Given the description of an element on the screen output the (x, y) to click on. 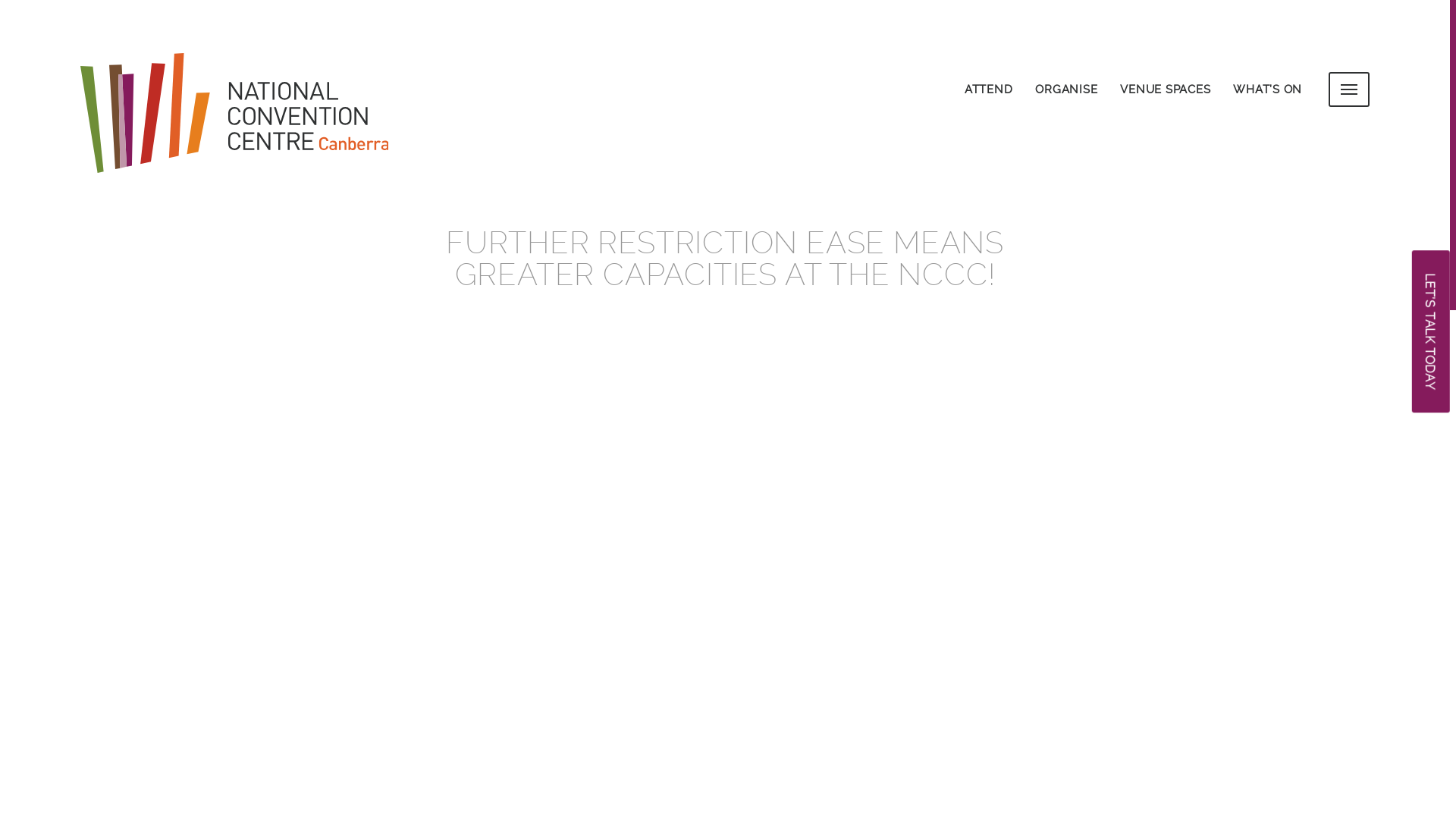
ORGANISE Element type: text (1066, 88)
VENUE SPACES Element type: text (1165, 88)
ATTEND Element type: text (988, 88)
National Convention Centre Canberra Element type: hover (250, 115)
